Given the description of an element on the screen output the (x, y) to click on. 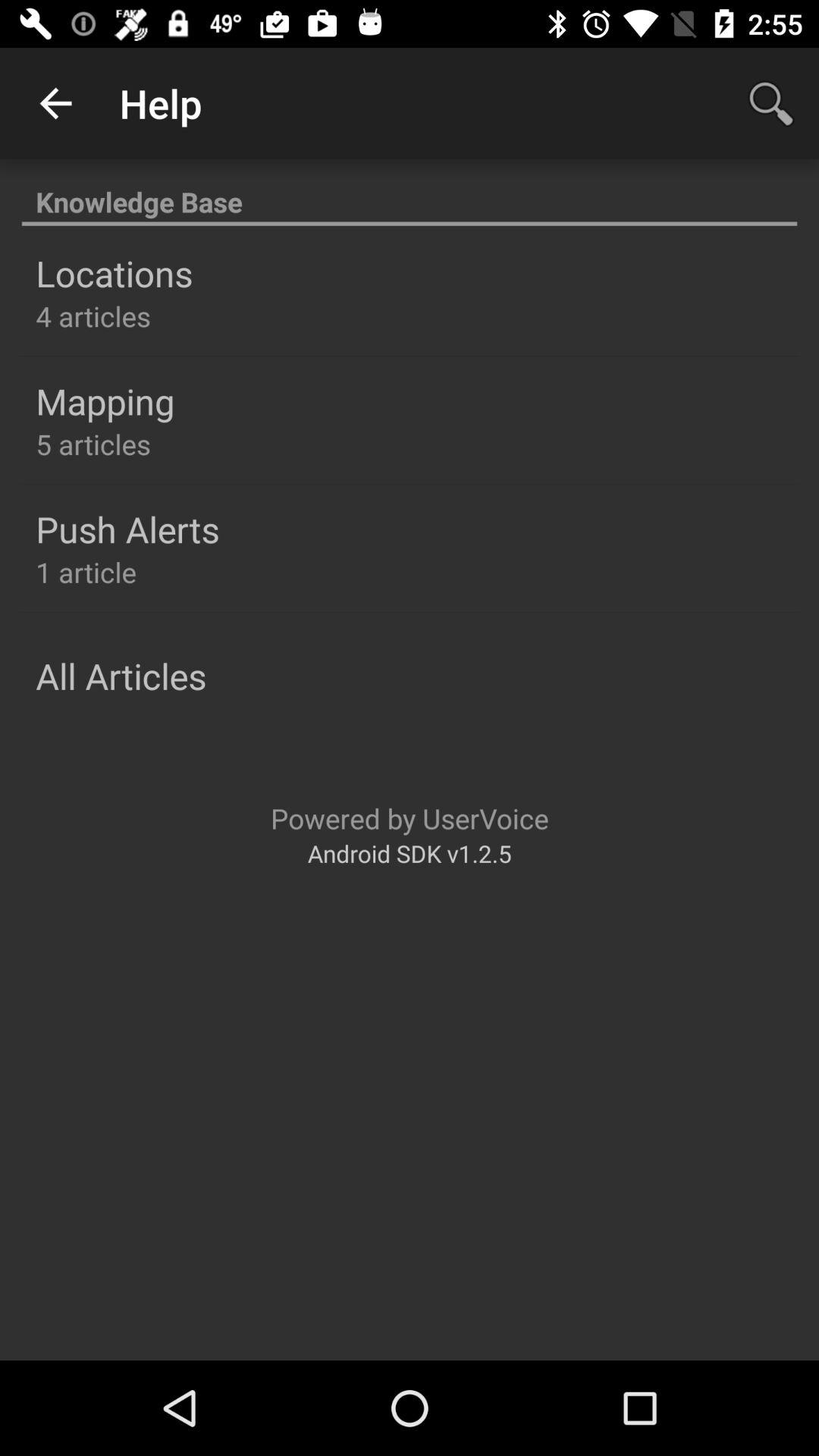
turn off the push alerts item (127, 529)
